Given the description of an element on the screen output the (x, y) to click on. 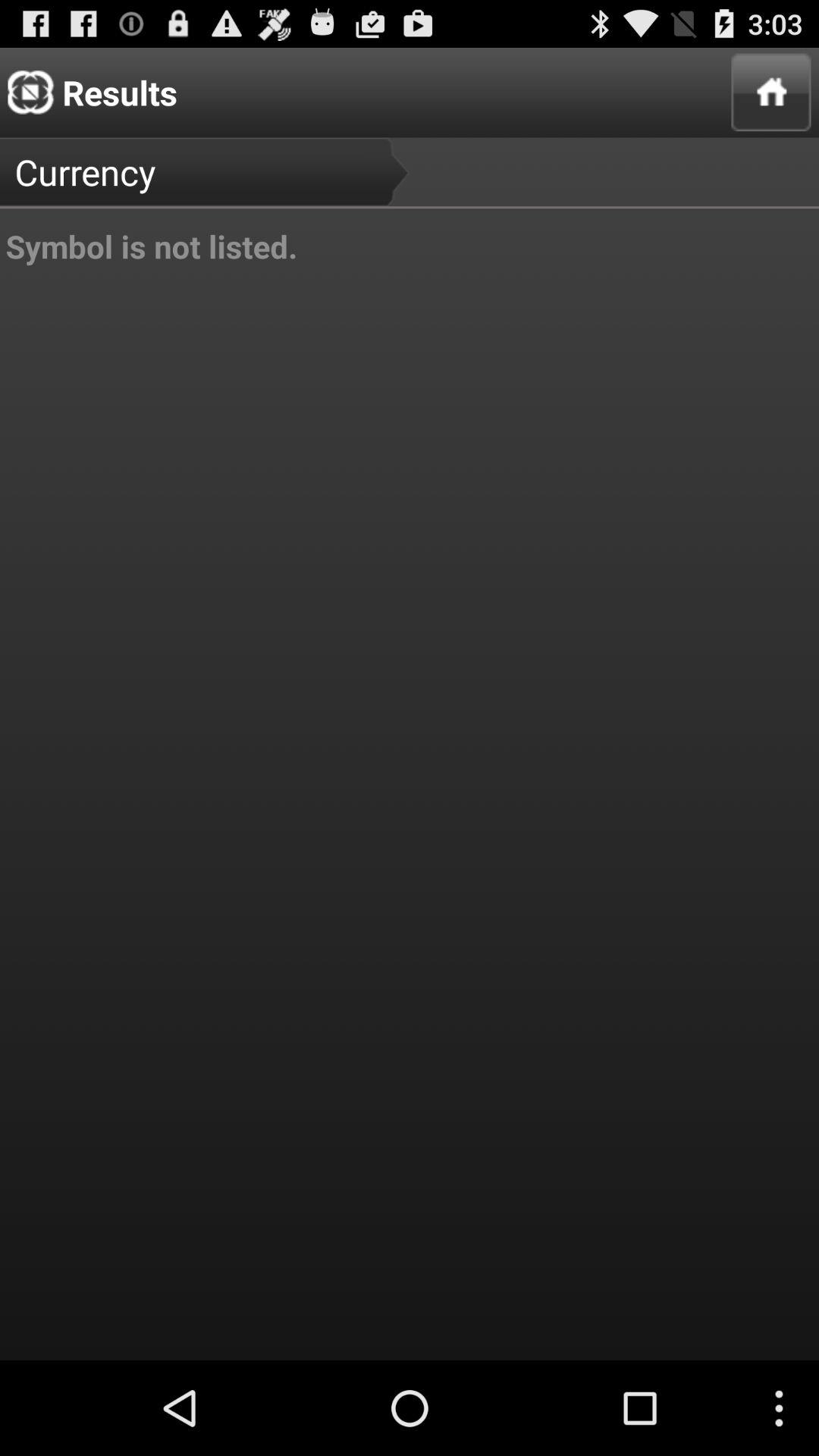
go home option (771, 92)
